Given the description of an element on the screen output the (x, y) to click on. 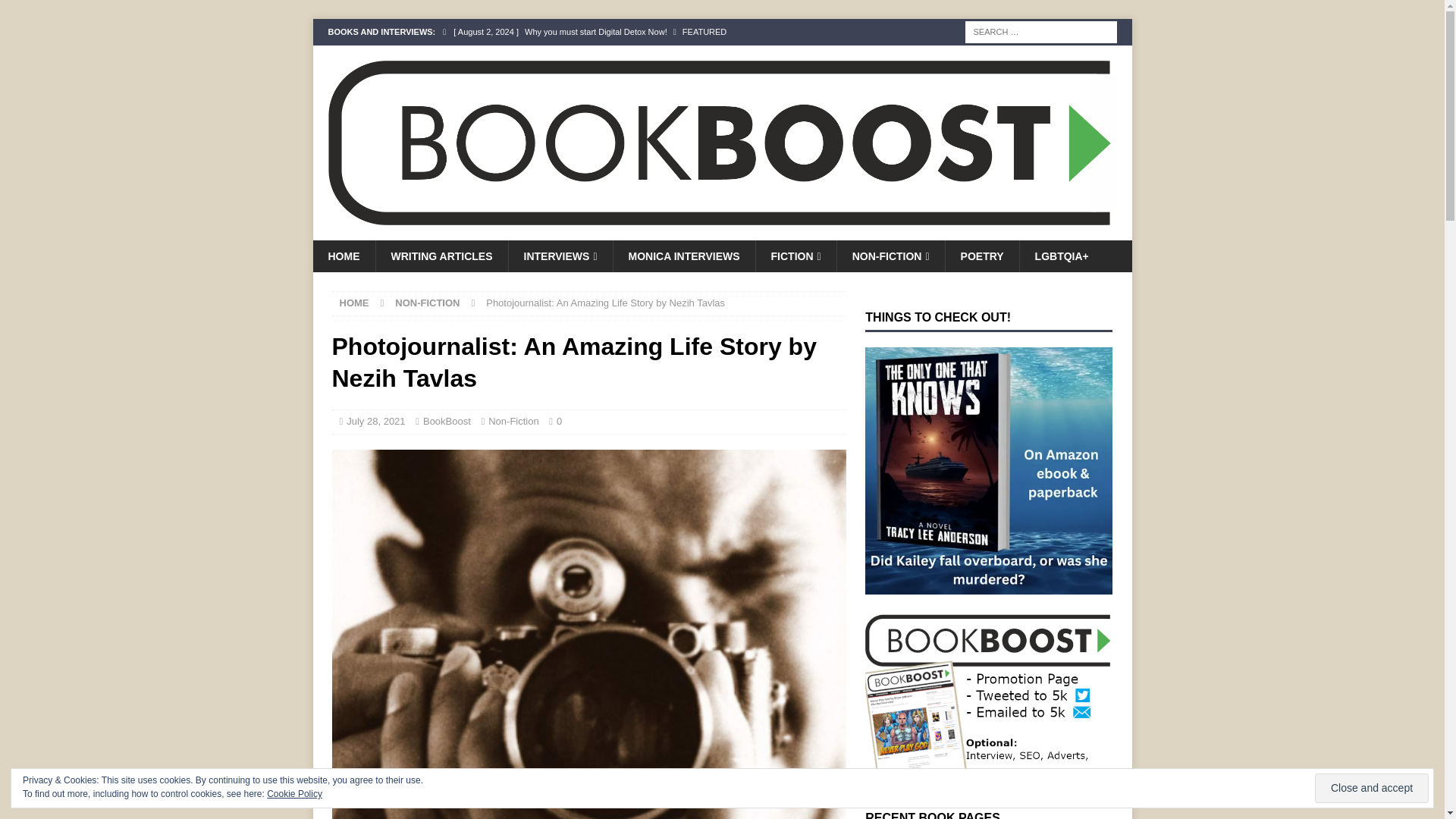
Baseball book for kids 9-12 (651, 57)
INTERVIEWS (560, 255)
Search (56, 11)
FICTION (795, 255)
NON-FICTION (889, 255)
WRITING ARTICLES (440, 255)
POETRY (981, 255)
MONICA INTERVIEWS (683, 255)
HOME (354, 302)
July 28, 2021 (375, 420)
Close and accept (1371, 788)
NON-FICTION (427, 302)
Why you must start Digital Detox Now! (651, 31)
HOME (343, 255)
